Given the description of an element on the screen output the (x, y) to click on. 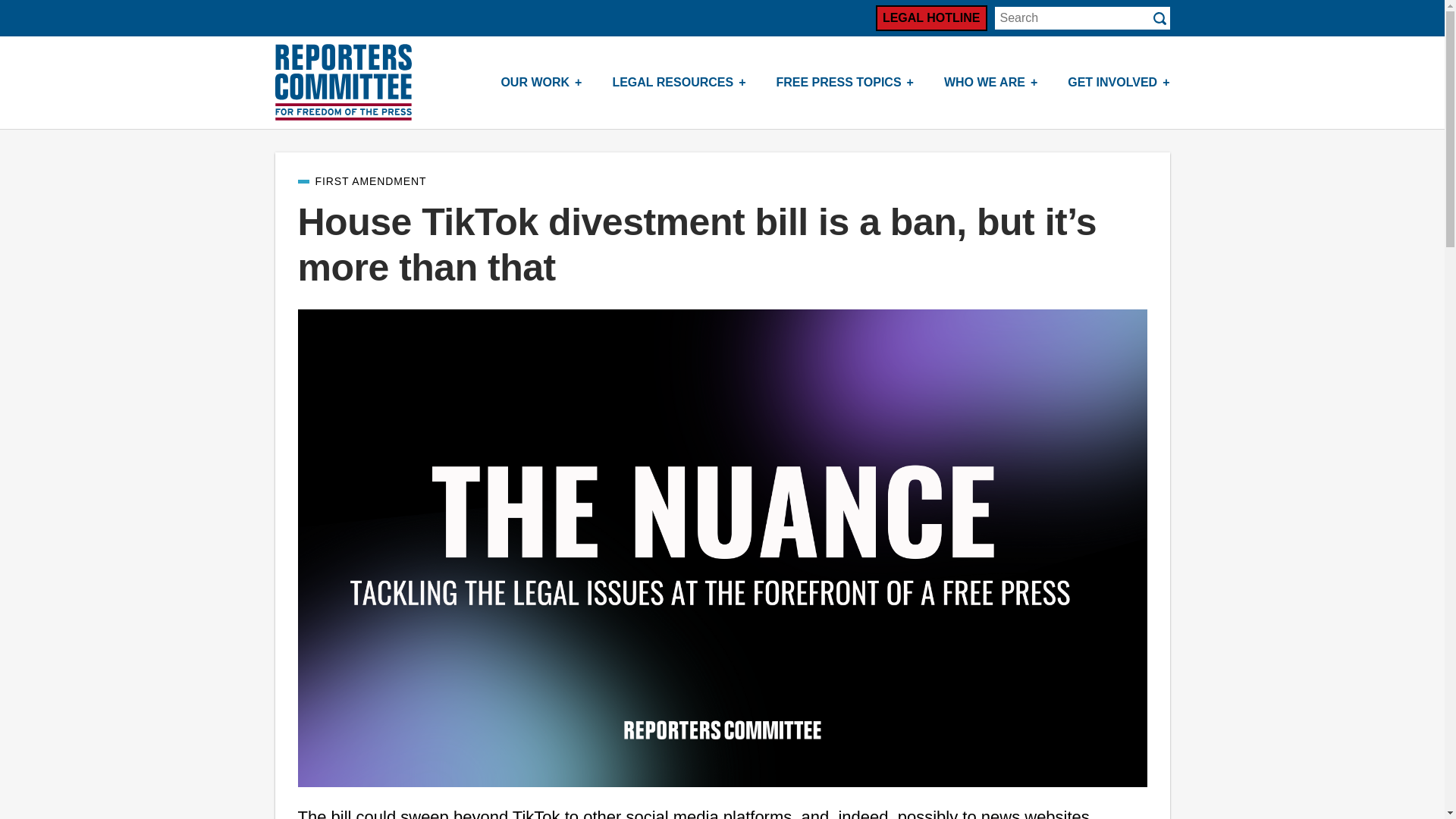
Reporters Committee for Freedom of the Press homepage (342, 82)
Submit (1159, 18)
LEGAL HOTLINE (931, 17)
LEGAL RESOURCES (678, 82)
WHO WE ARE (990, 82)
FREE PRESS TOPICS (844, 82)
OUR WORK (540, 82)
GET INVOLVED (1118, 82)
